Given the description of an element on the screen output the (x, y) to click on. 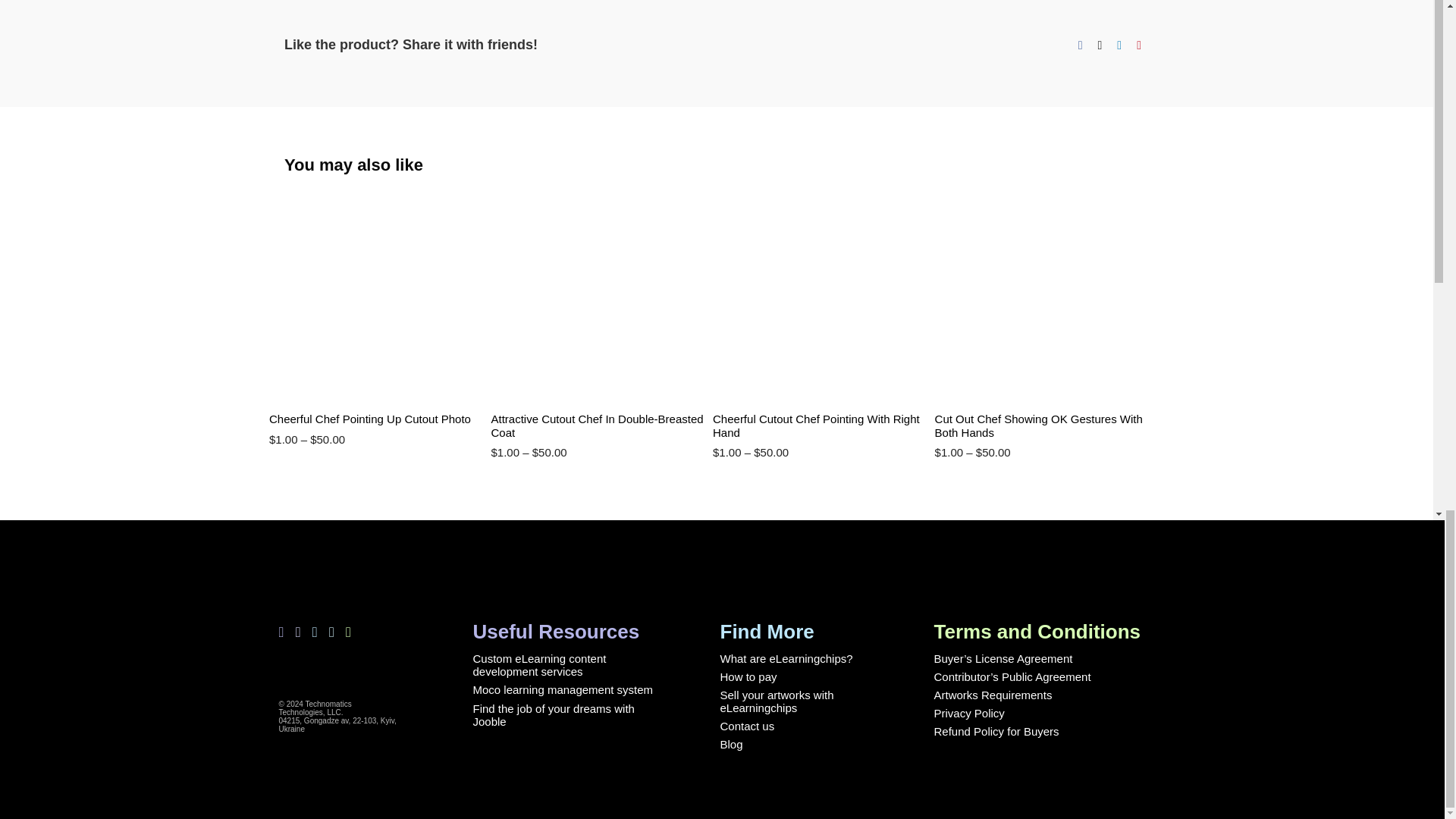
LinkedIn (1119, 45)
X (1099, 45)
Pinterest (1138, 45)
Facebook (1080, 45)
